Given the description of an element on the screen output the (x, y) to click on. 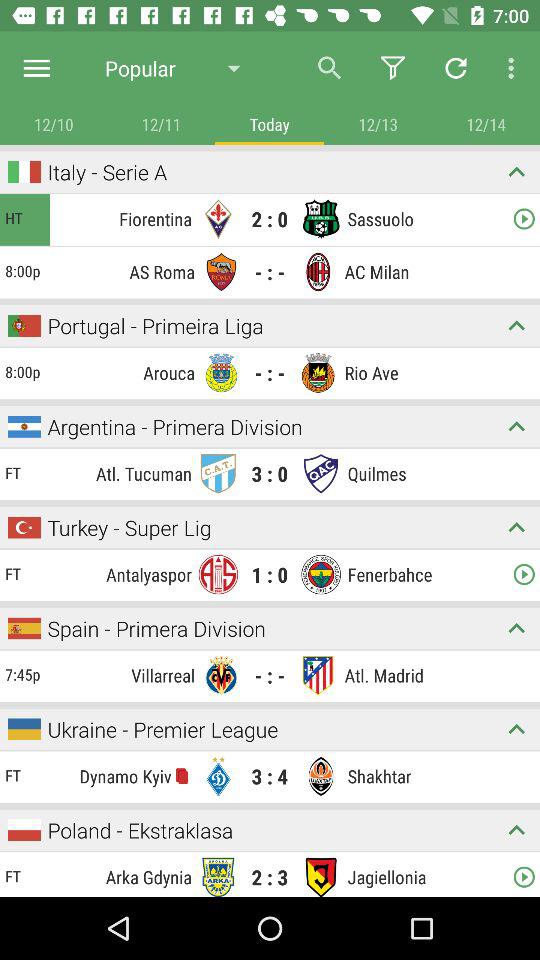
toggle menu (36, 68)
